Given the description of an element on the screen output the (x, y) to click on. 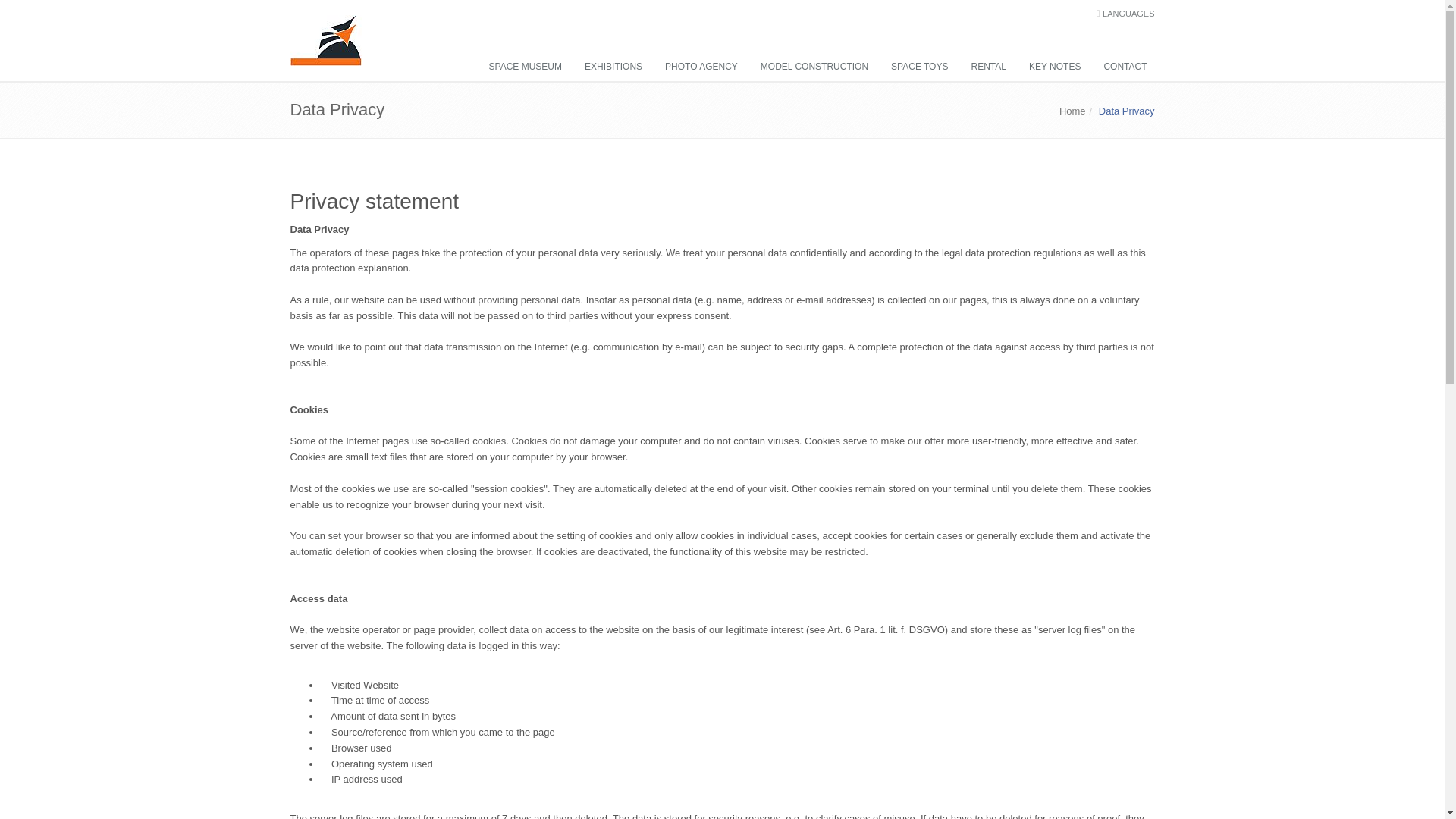
KEY NOTES (1050, 67)
Home (1072, 111)
EXHIBITIONS (609, 67)
RENTAL (984, 67)
SPACE TOYS (915, 67)
LANGUAGES (1128, 13)
Home (1072, 111)
SPACE MUSEUM (521, 67)
CONTACT (1120, 67)
PHOTO AGENCY (697, 67)
MODEL CONSTRUCTION (810, 67)
